Given the description of an element on the screen output the (x, y) to click on. 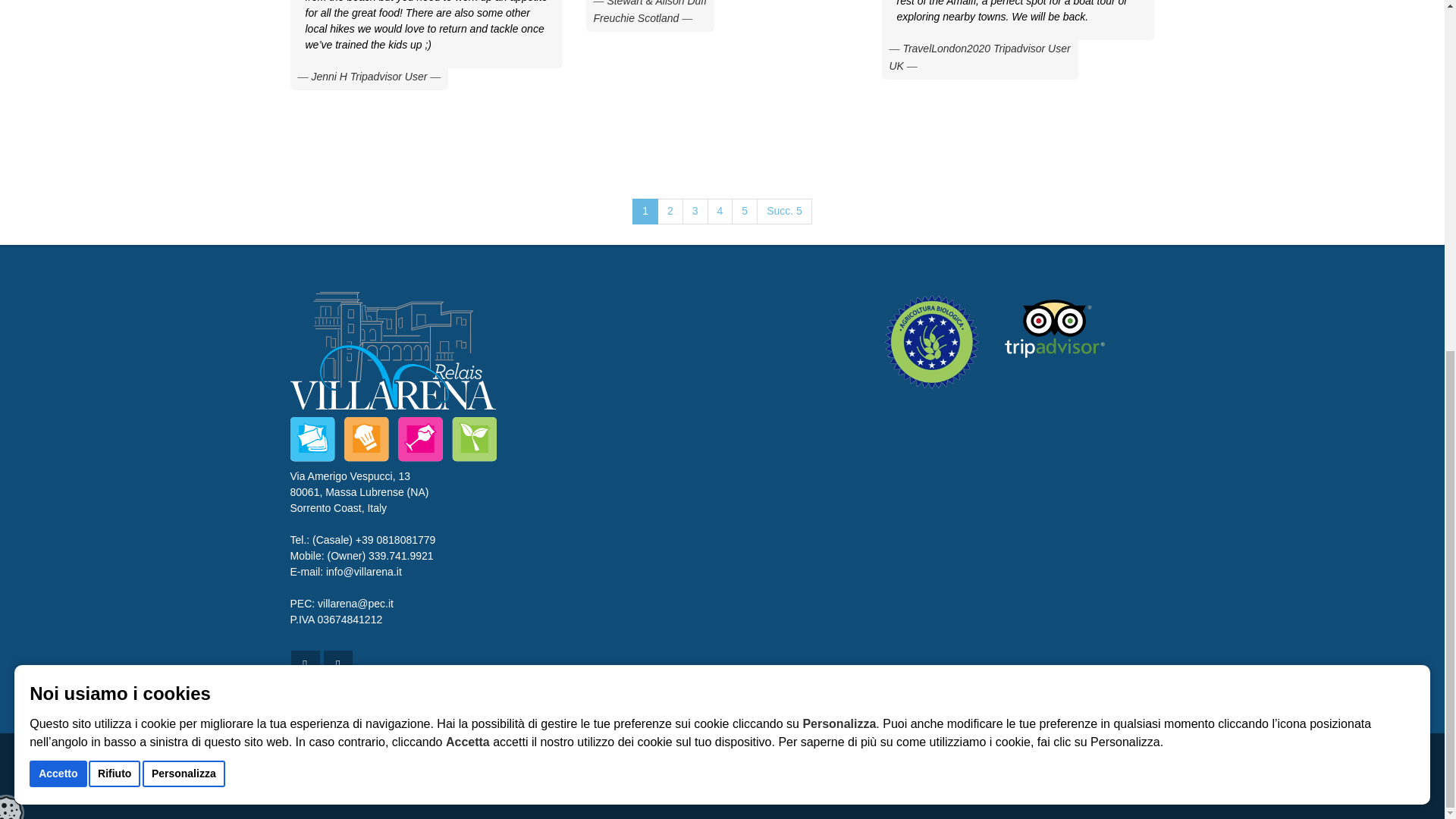
Eruzione del Vesuvio: 24 Agosto - 79 A.C. (1063, 754)
Rifiuto (113, 162)
Paestum (810, 766)
Isca (637, 754)
Punta Campanella (366, 754)
Isola la Vetara (678, 754)
POSITANO (914, 754)
LE ISOLE DE LI GALLI (531, 754)
Accetto (57, 162)
Ravello (707, 766)
Ercolano (668, 766)
Nerano (308, 754)
Il Vervece (603, 754)
SORRENTO (827, 754)
Pompei (630, 766)
